Given the description of an element on the screen output the (x, y) to click on. 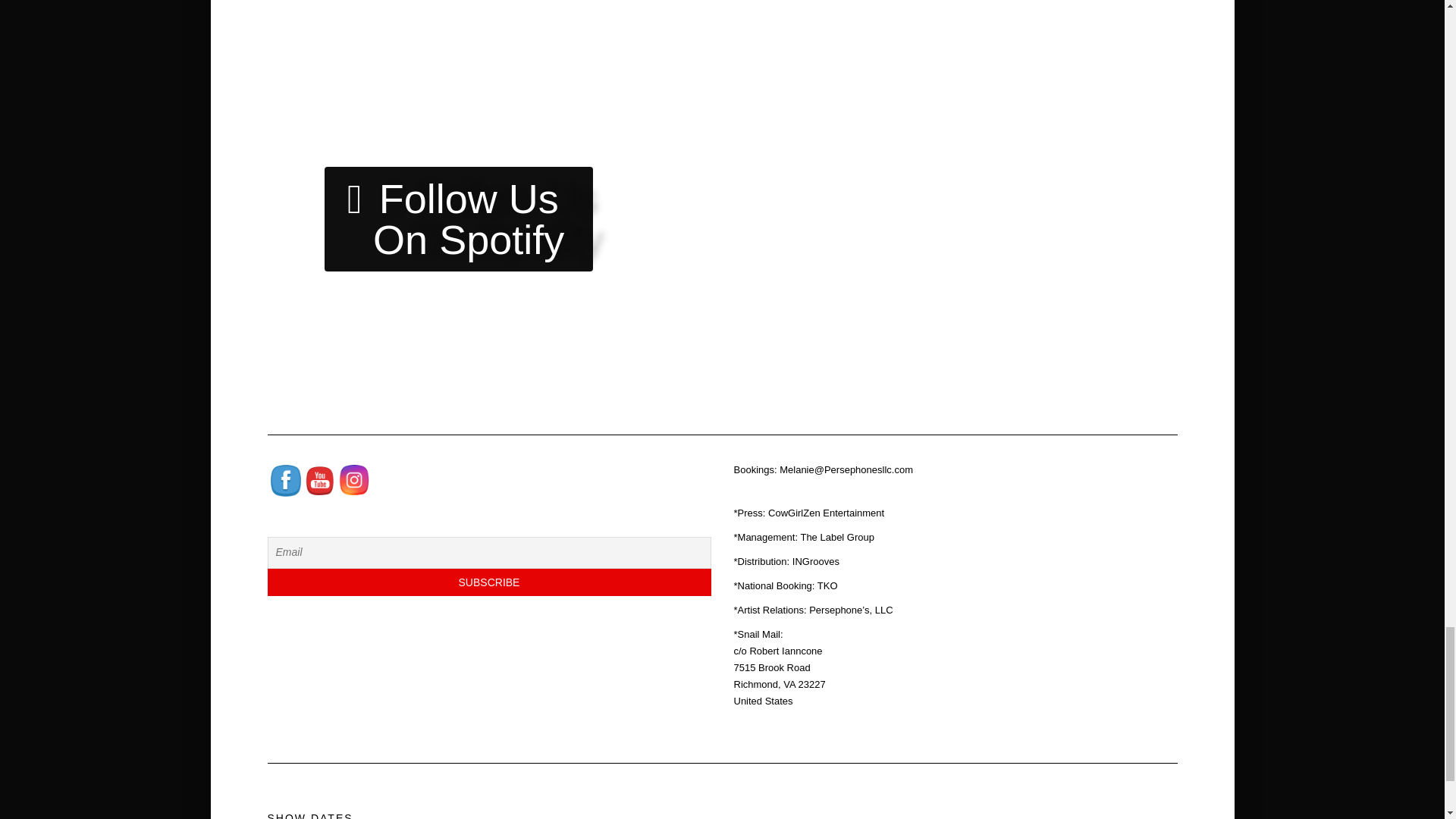
Subscribe (488, 582)
CowGirlZen Entertainment (825, 512)
Follow Us On Spotify (458, 219)
Facebook (284, 481)
Instagram (352, 480)
Subscribe (488, 582)
YouTube (319, 480)
